Given the description of an element on the screen output the (x, y) to click on. 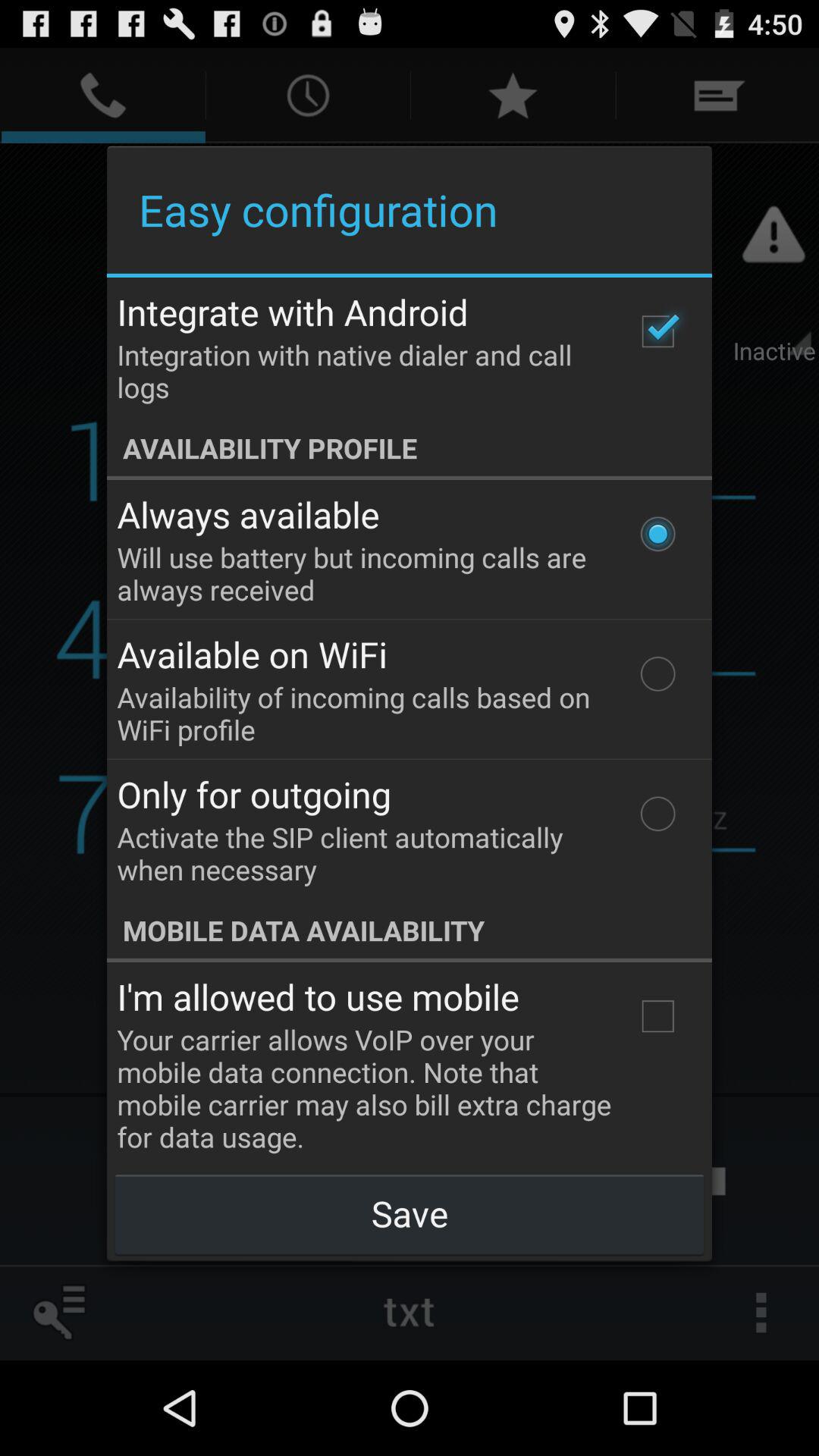
select the item below the mobile data availability item (657, 1016)
